Given the description of an element on the screen output the (x, y) to click on. 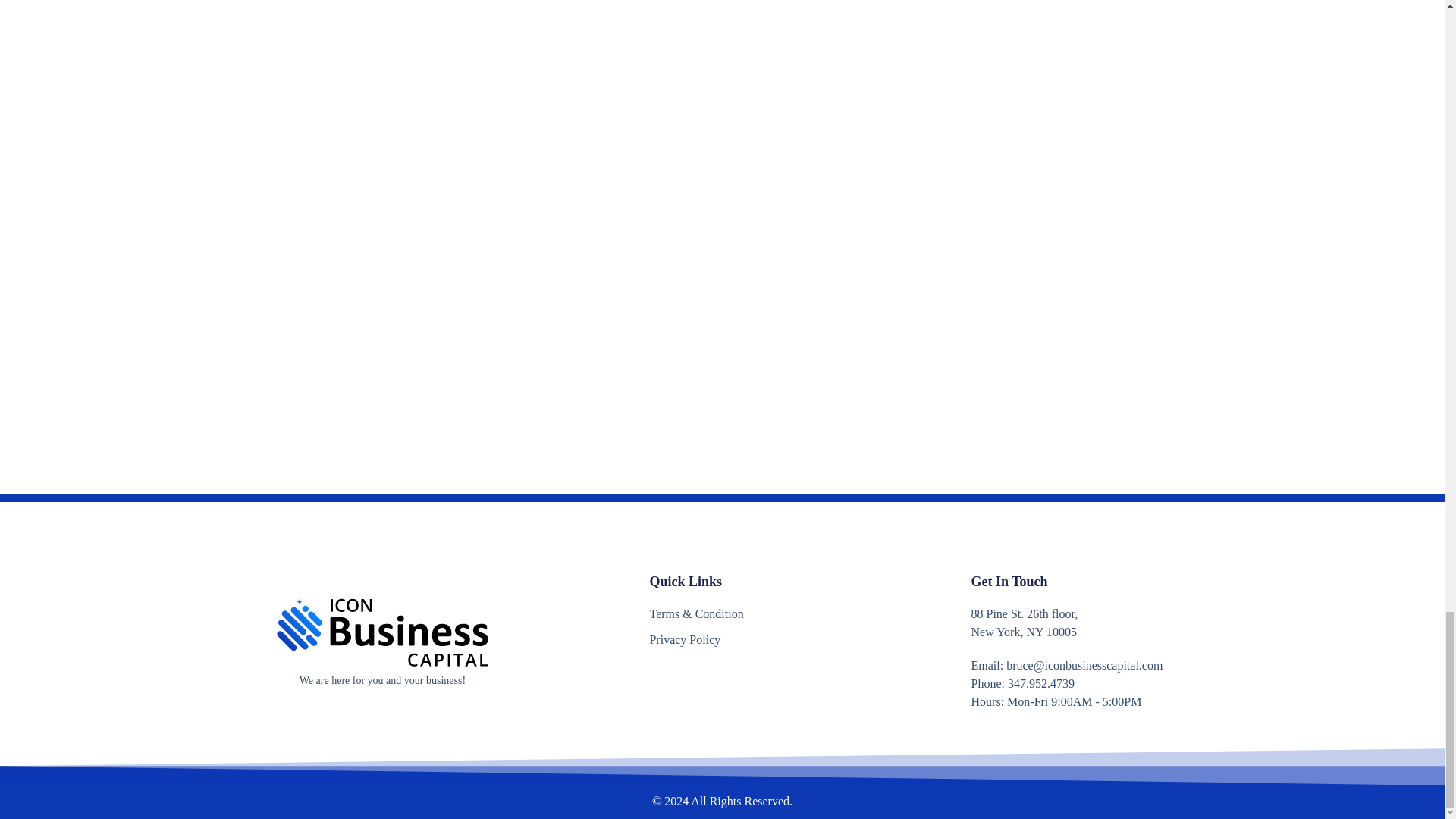
Submit (795, 420)
Phone: 347.952.4739 (1092, 683)
Privacy Policy (752, 639)
